Given the description of an element on the screen output the (x, y) to click on. 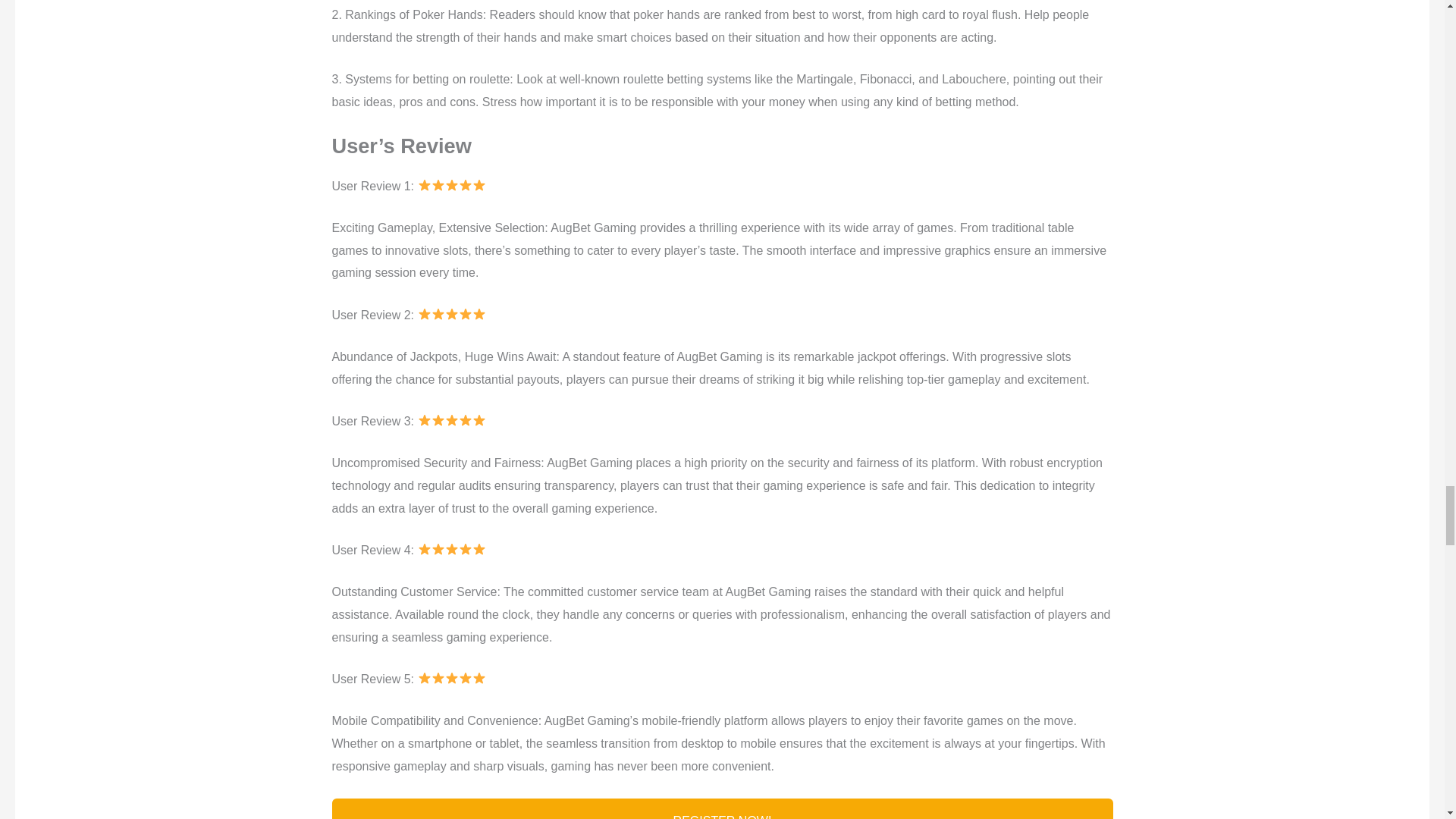
REGISTER NOW! (722, 808)
